Given the description of an element on the screen output the (x, y) to click on. 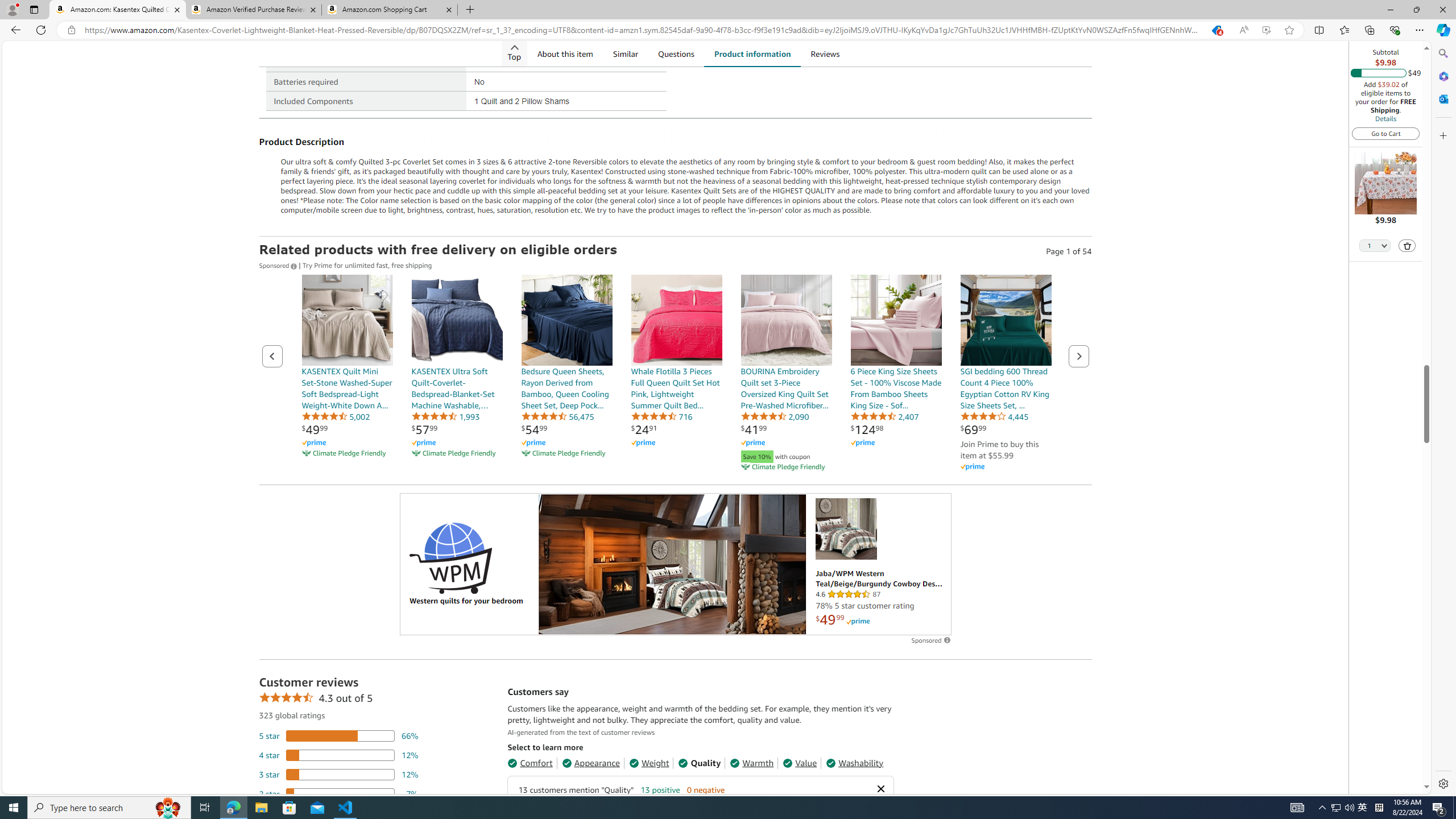
Join Prime to buy this item at $55.99 (999, 449)
716$24.91 (676, 373)
Appearance (591, 762)
Questions (675, 53)
Amazon Verified Purchase Reviews - Amazon Customer Service (253, 9)
